Given the description of an element on the screen output the (x, y) to click on. 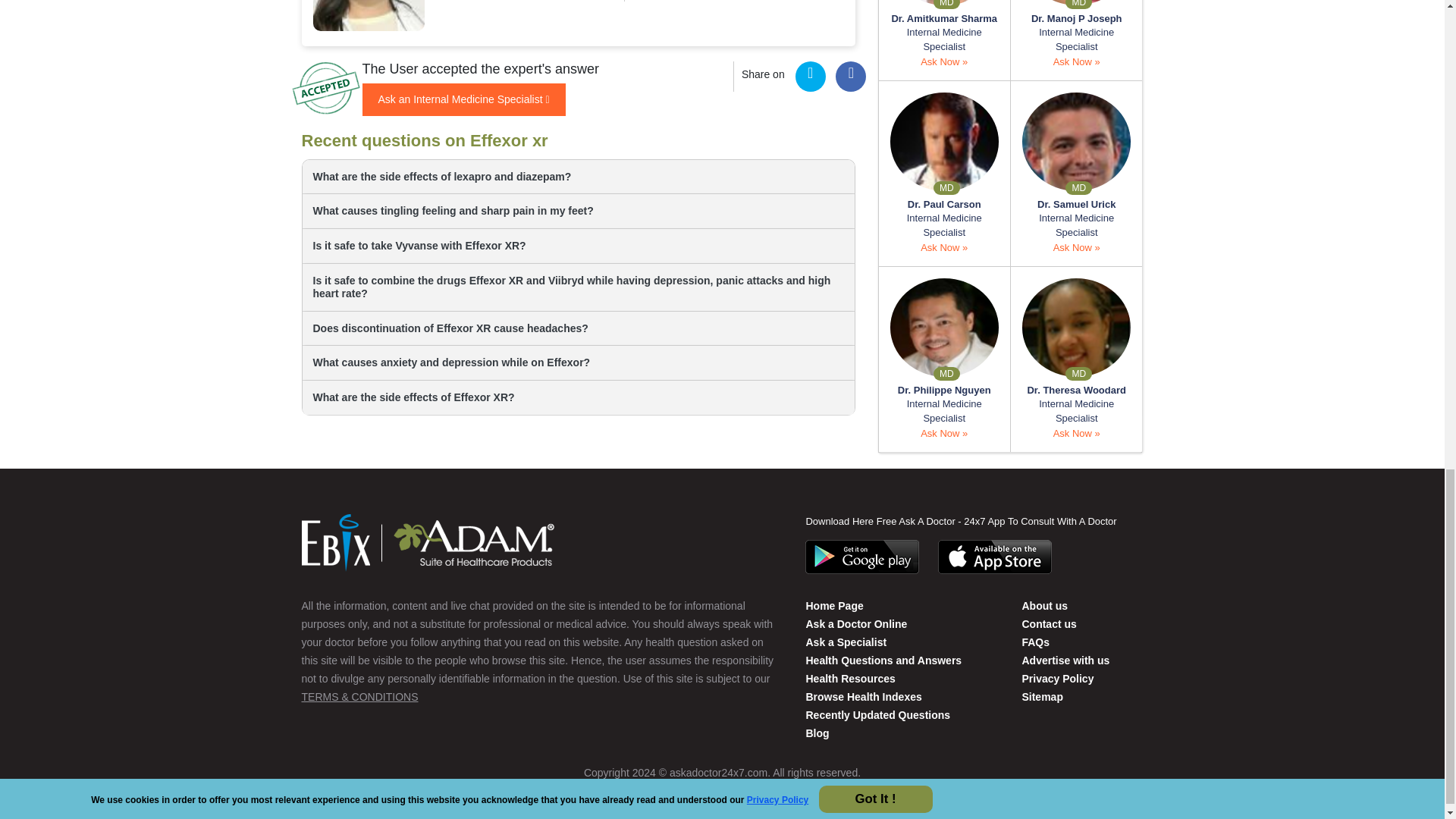
Contact us (1044, 605)
Privacy Policy (1057, 678)
Health Resources (850, 678)
Recently Updated Questions (877, 715)
Ask a Specialist (845, 642)
Browse Health Indexes (863, 696)
Contact us (1048, 623)
FAQs (1035, 642)
Advertise with us (1065, 660)
Health Questions and Answers (882, 660)
Ask a Doctor Online (856, 623)
Sitemap (1042, 696)
Health Blog (816, 733)
Home Page (834, 605)
